Given the description of an element on the screen output the (x, y) to click on. 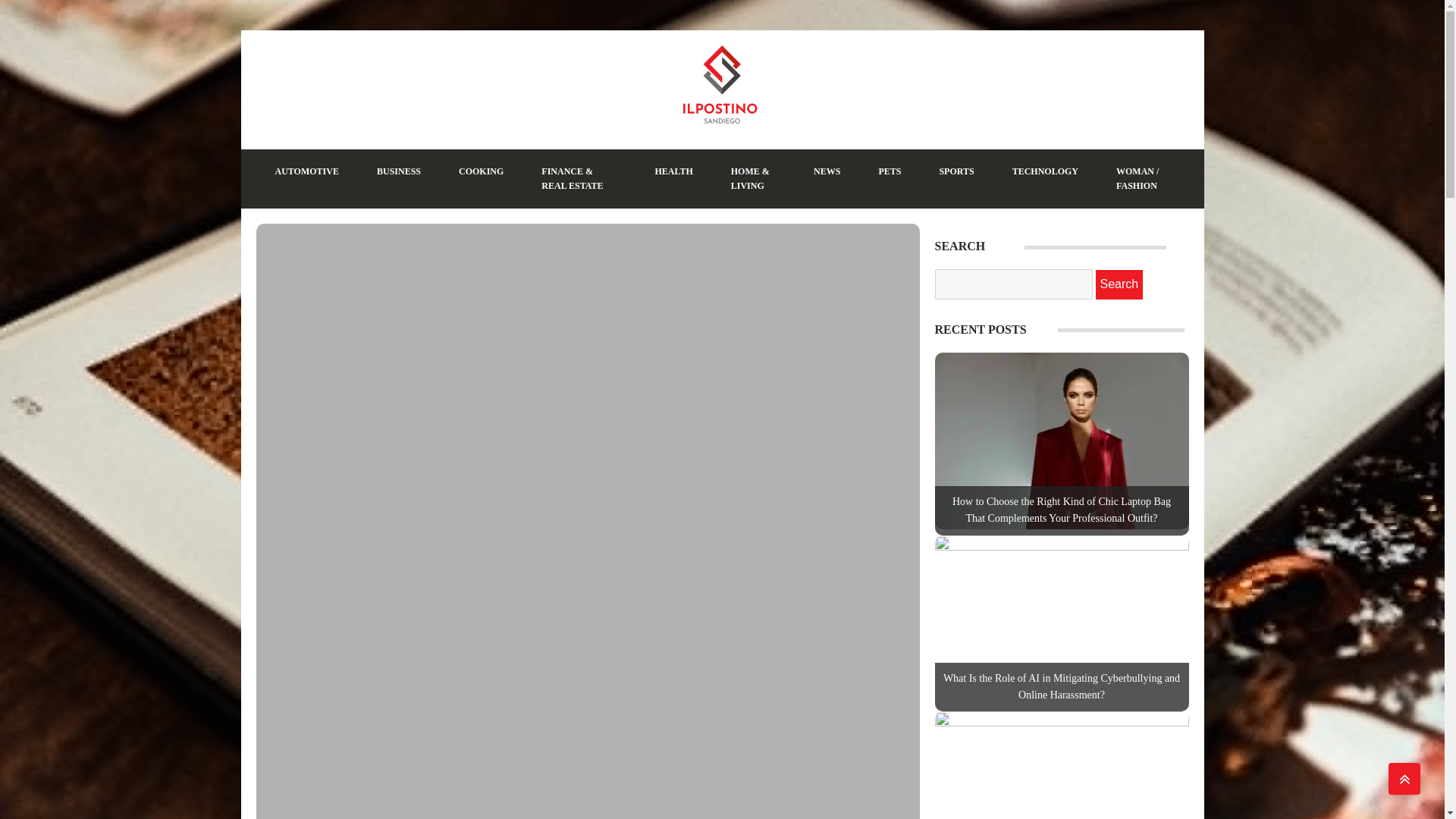
BUSINESS (398, 171)
PETS (889, 171)
NEWS (826, 171)
AUTOMOTIVE (307, 171)
COOKING (480, 171)
SPORTS (956, 171)
HEALTH (672, 171)
